Given the description of an element on the screen output the (x, y) to click on. 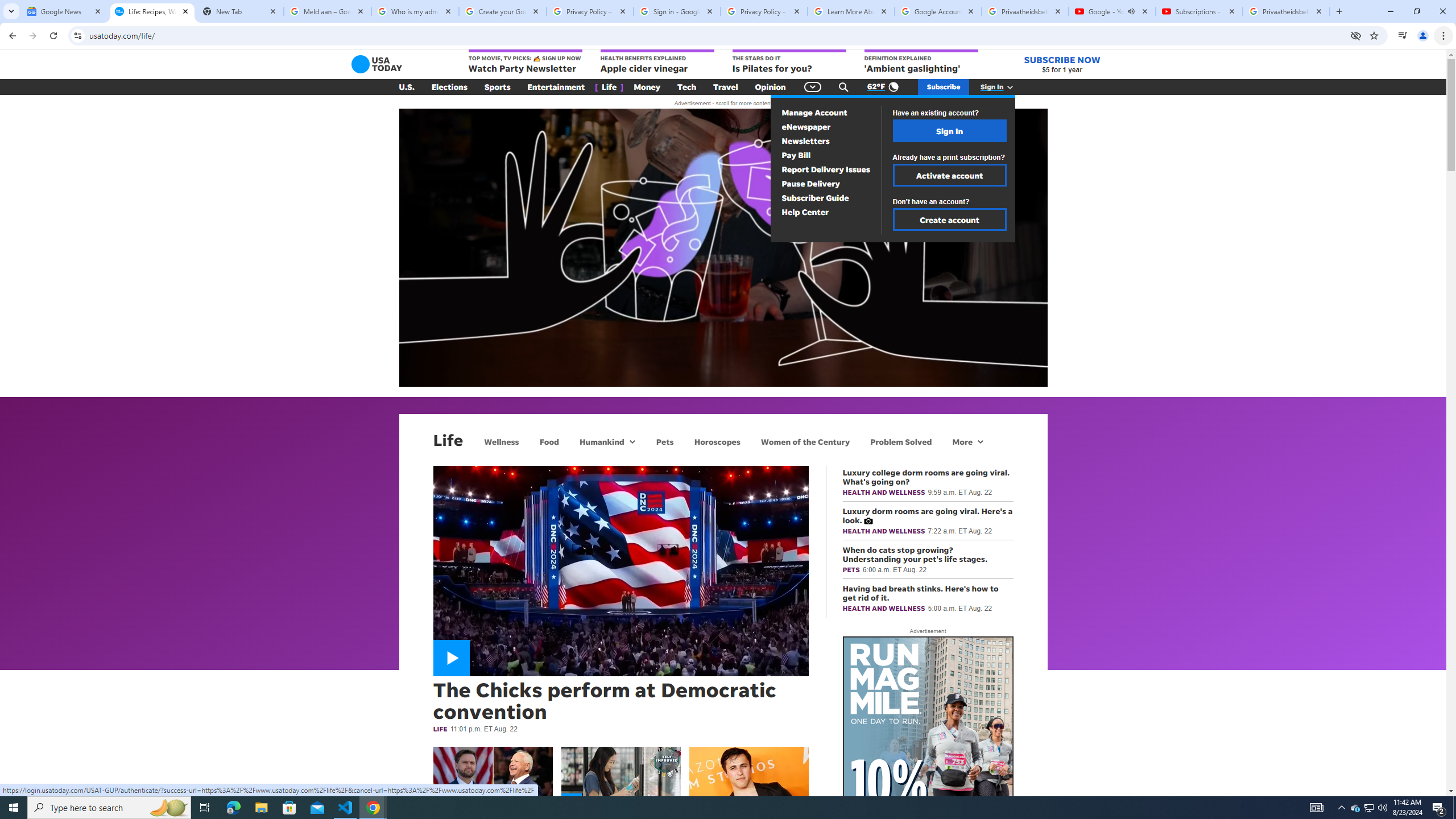
Newsletters (805, 140)
Wellness (501, 441)
Money (646, 87)
Activate account (949, 174)
More life navigation (968, 441)
Create account (949, 219)
Who is my administrator? - Google Account Help (415, 11)
Sports (497, 87)
New Tab (239, 11)
Manage Account (814, 112)
Subscribe (943, 87)
